Given the description of an element on the screen output the (x, y) to click on. 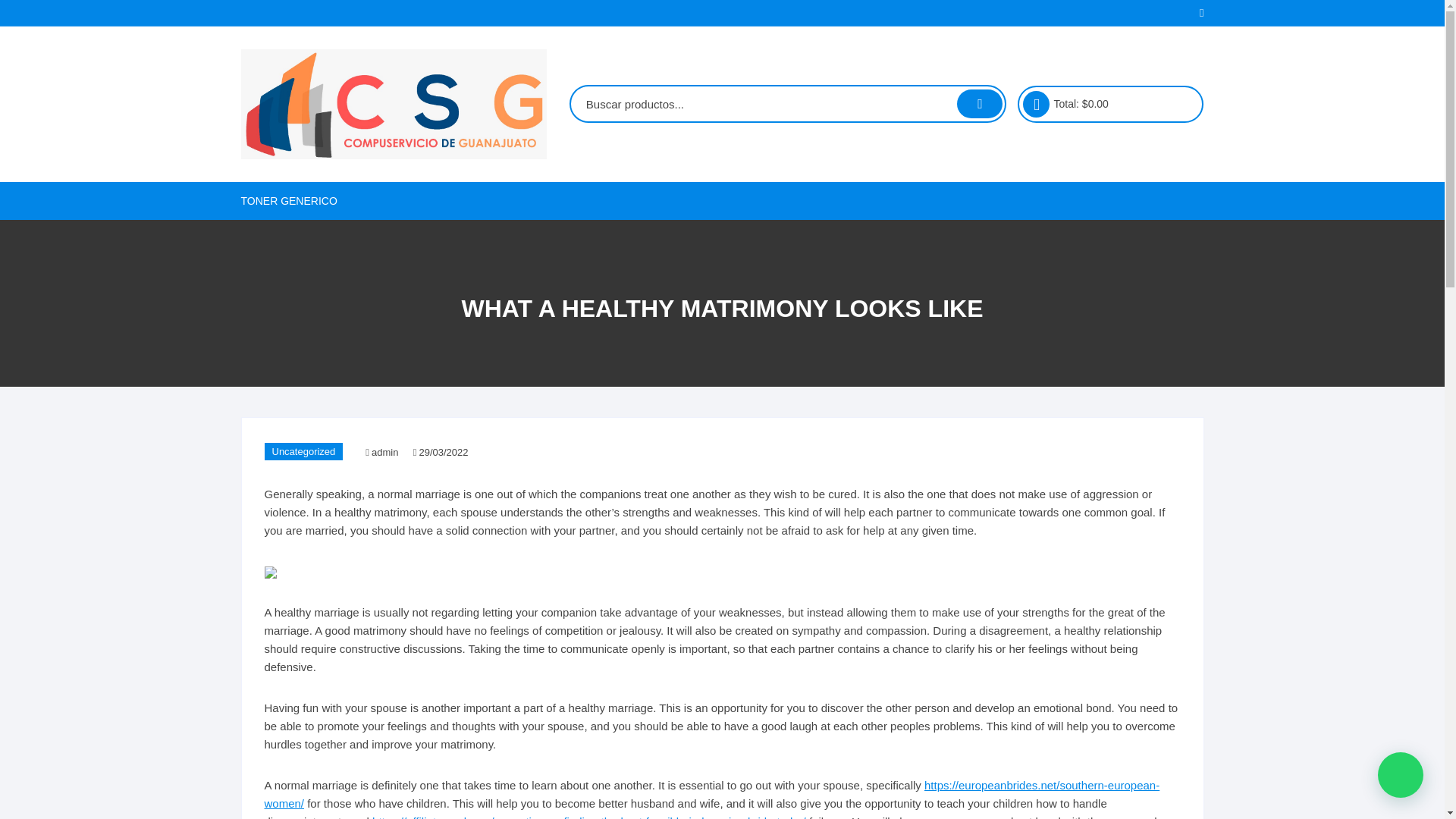
TONER GENERICO (295, 200)
Uncategorized (302, 451)
admin (387, 453)
